Given the description of an element on the screen output the (x, y) to click on. 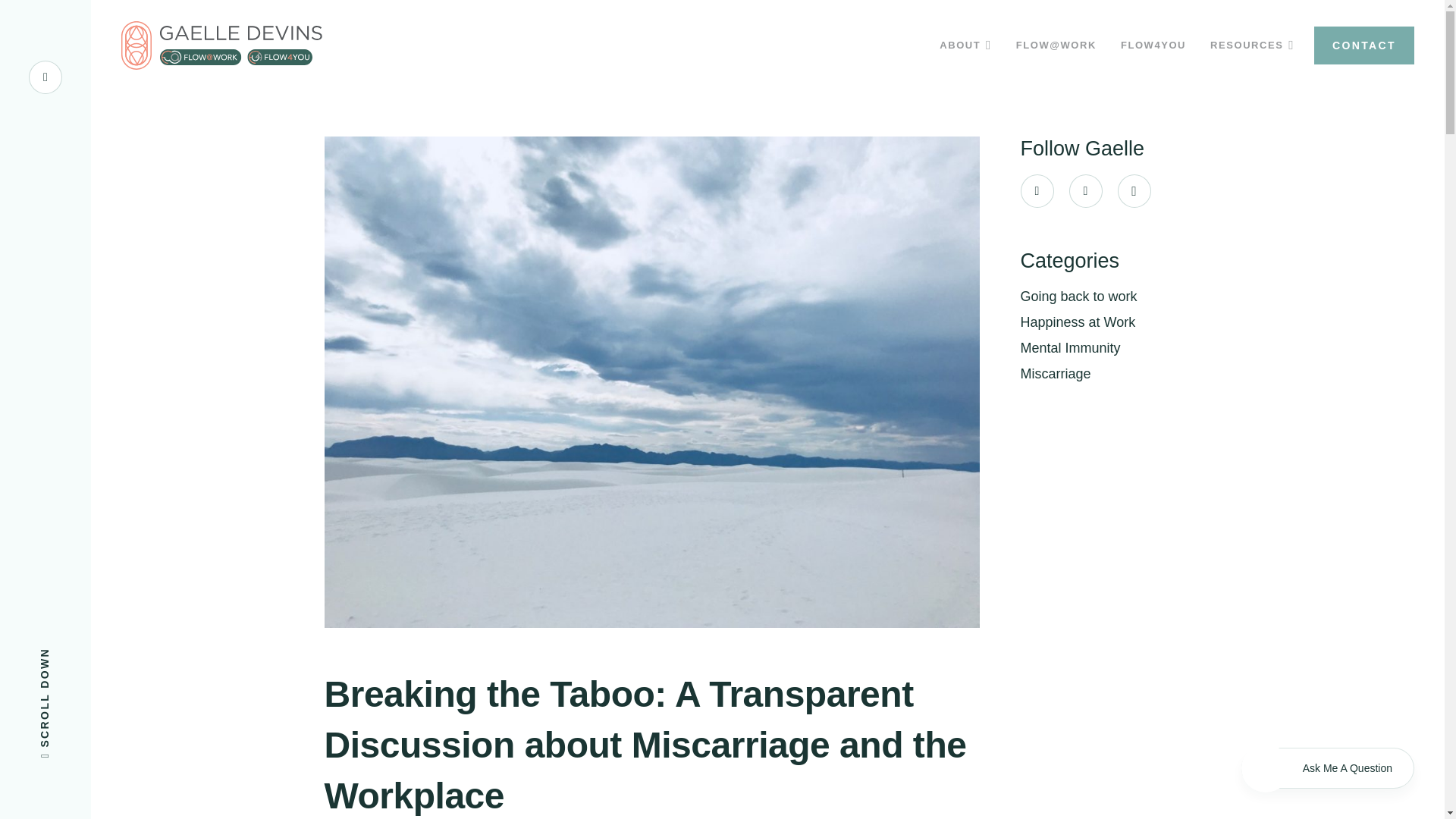
Going back to work (1078, 296)
Ask Me A Question (1327, 767)
FLOW4YOU (1153, 45)
CONTACT (1363, 45)
Miscarriage (1055, 373)
SCROLL DOWN (94, 654)
RESOURCES (1252, 45)
Happiness at Work (1077, 322)
LinkedIn (1085, 191)
Mental Immunity (1070, 347)
